Given the description of an element on the screen output the (x, y) to click on. 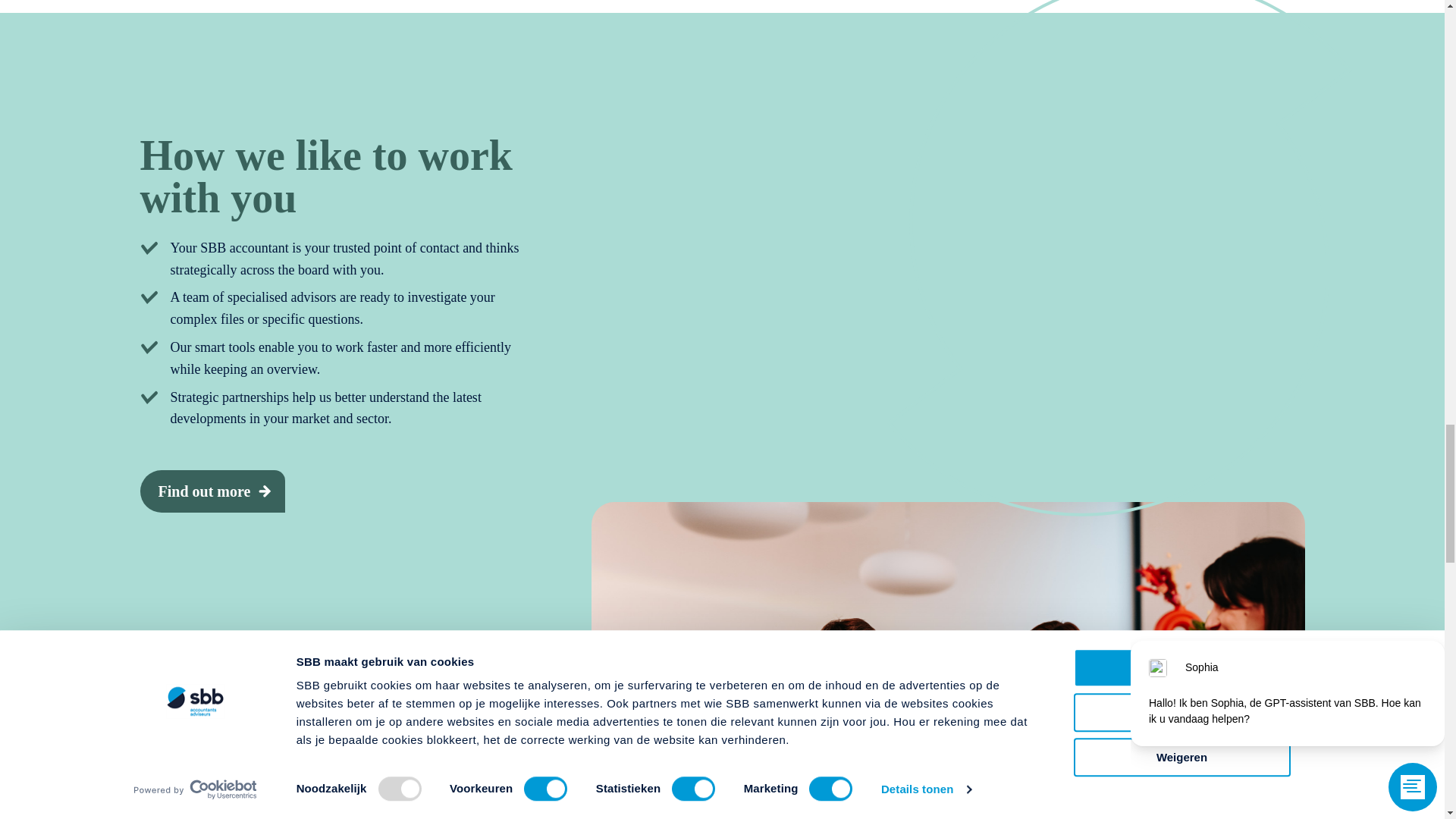
How we like to work with you (212, 491)
